Given the description of an element on the screen output the (x, y) to click on. 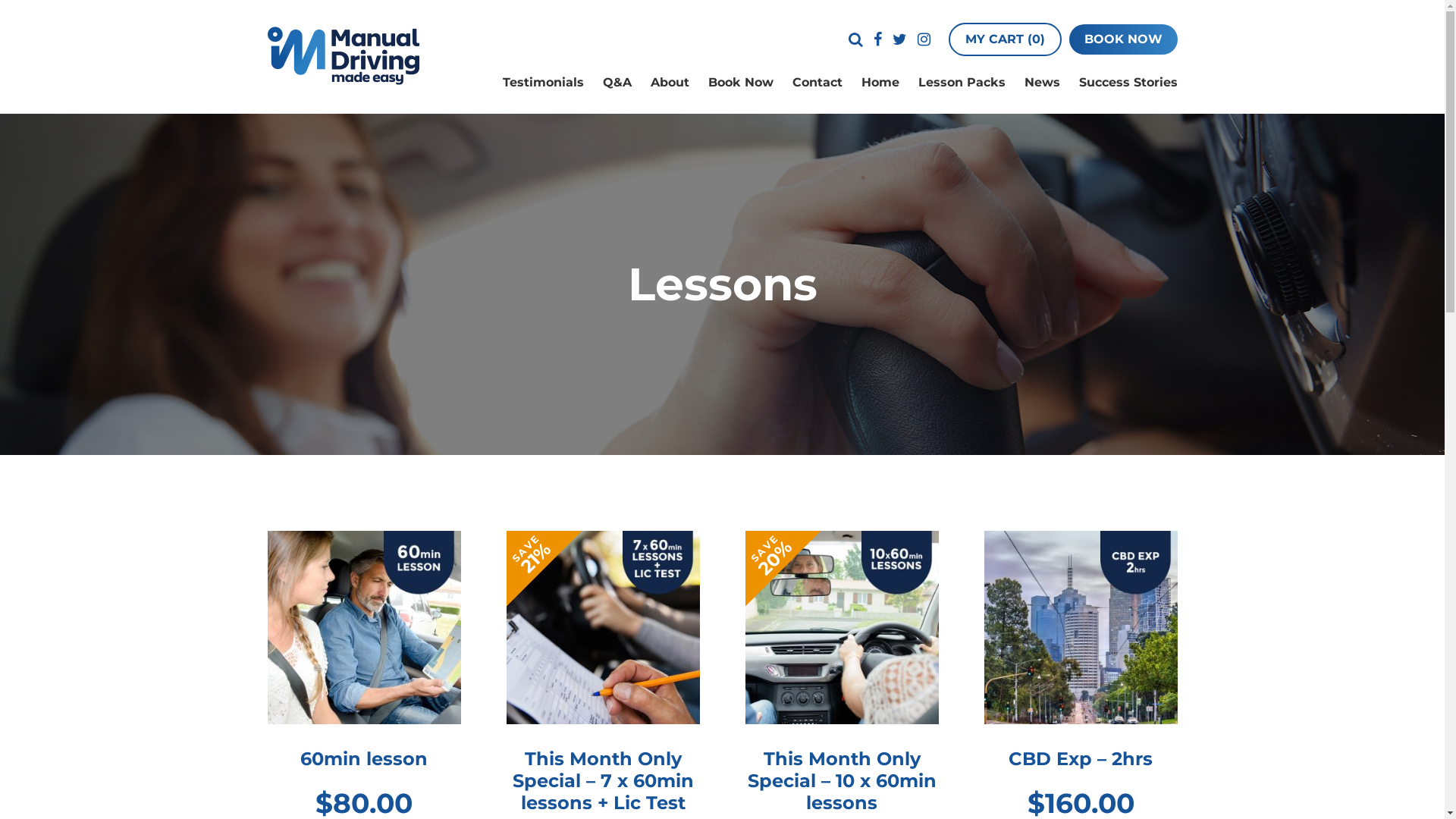
Home Element type: text (880, 82)
Book Now Element type: text (740, 82)
Contact Element type: text (816, 82)
Testimonials Element type: text (542, 82)
News Element type: text (1041, 82)
Lesson Packs Element type: text (960, 82)
MY CART (0) Element type: text (1003, 39)
About Element type: text (669, 82)
Q&A Element type: text (616, 82)
BOOK NOW Element type: text (1123, 39)
Success Stories Element type: text (1127, 82)
